Given the description of an element on the screen output the (x, y) to click on. 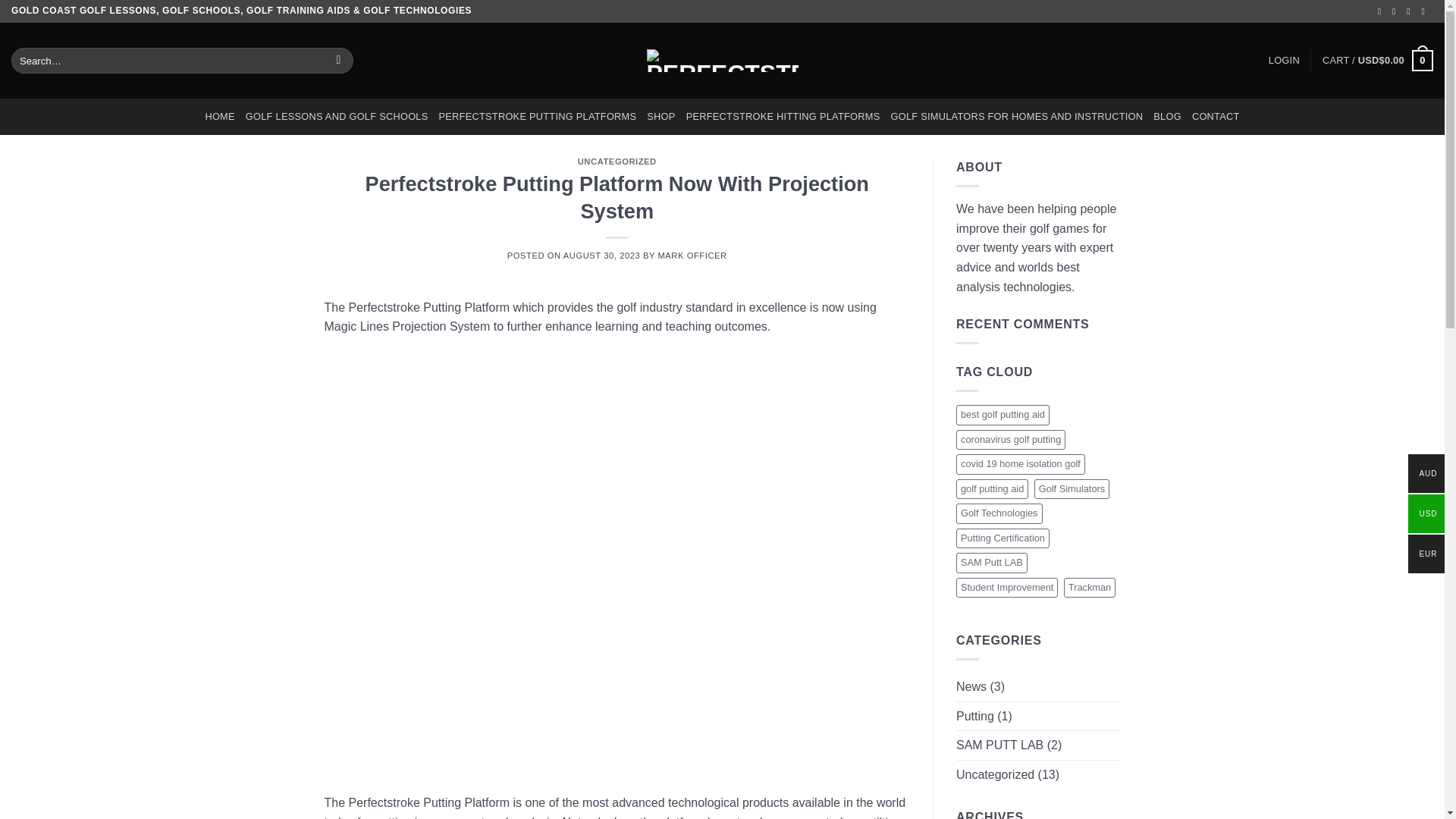
CONTACT (1216, 116)
LOGIN (1284, 60)
Putting Certification (1002, 537)
golf putting aid (991, 488)
GOLF SIMULATORS FOR HOMES AND INSTRUCTION (1015, 116)
PERFECTSTROKE PUTTING PLATFORMS (538, 116)
coronavirus golf putting (1010, 439)
UNCATEGORIZED (617, 161)
best golf putting aid (1002, 414)
Search (338, 60)
MARK OFFICER (692, 255)
Golf Technologies (999, 513)
Cart (1377, 60)
SAM Putt LAB (991, 562)
